Given the description of an element on the screen output the (x, y) to click on. 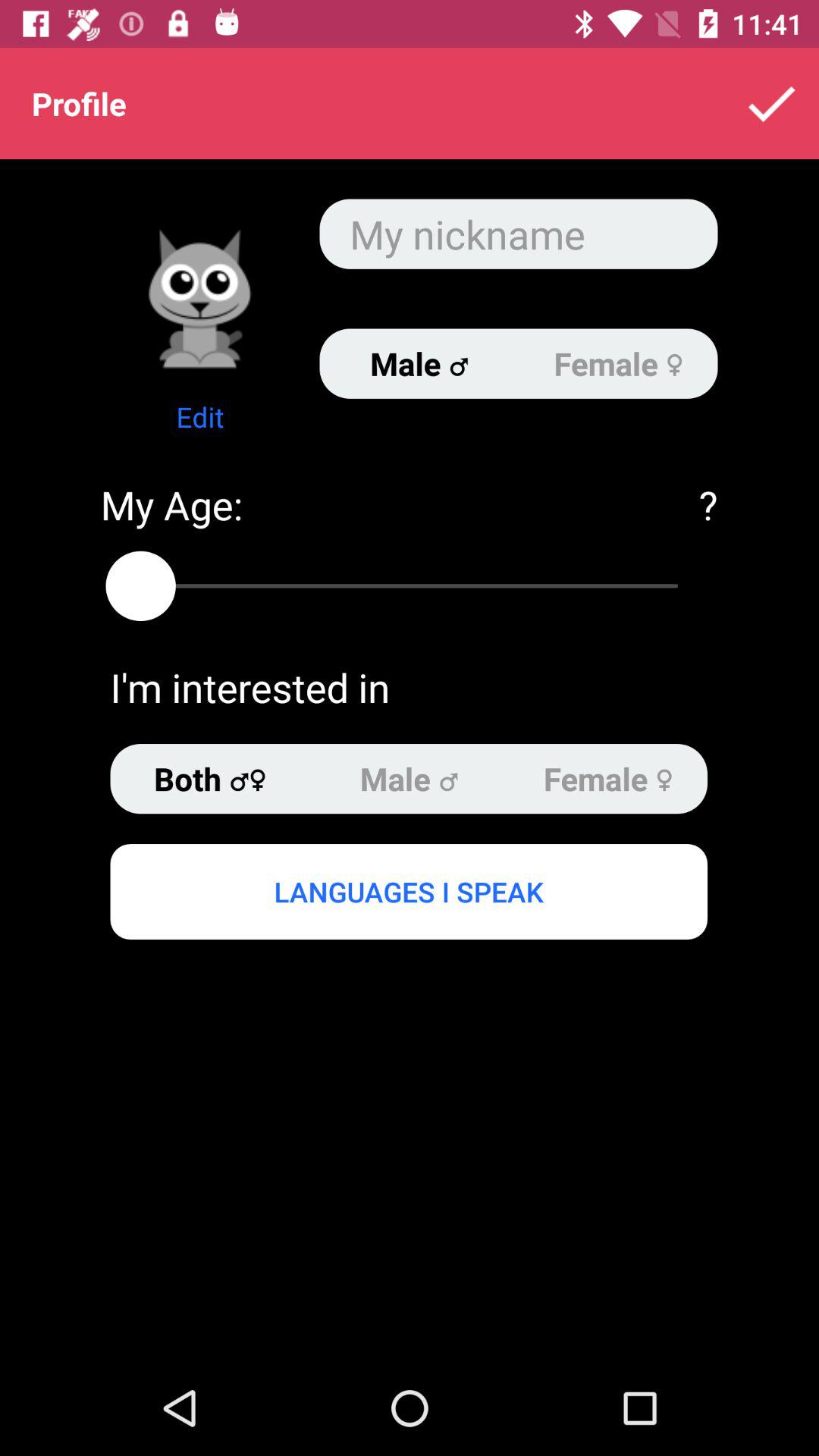
enter nickname (518, 234)
